Given the description of an element on the screen output the (x, y) to click on. 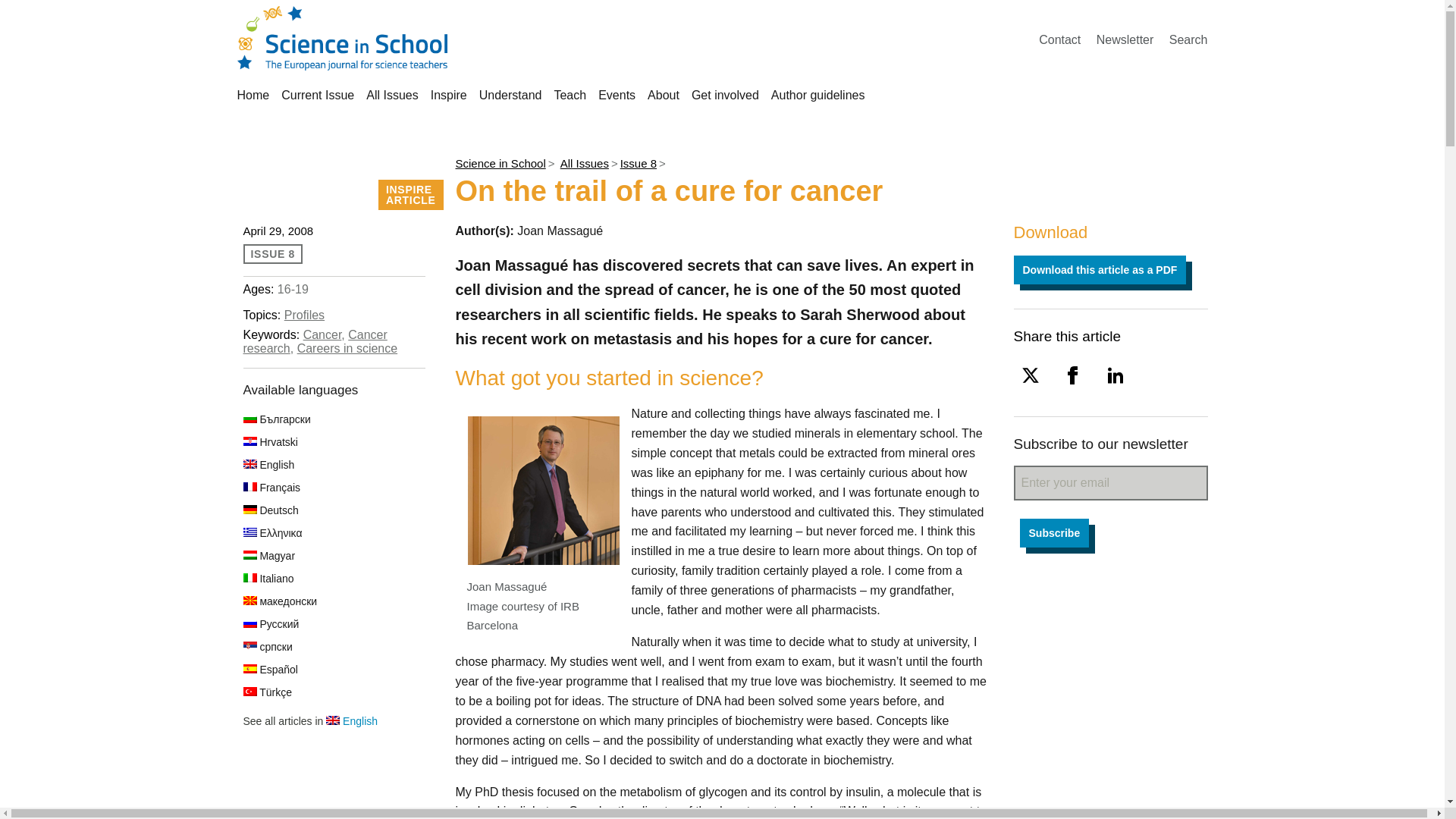
Science in School (499, 163)
INSPIRE ARTICLE (411, 194)
 Magyar (269, 555)
Inspire (448, 94)
Events (616, 94)
Teach (569, 94)
Issue 8 (638, 163)
 Italiano (268, 578)
Careers in science (347, 348)
Newsletter (1125, 39)
